Given the description of an element on the screen output the (x, y) to click on. 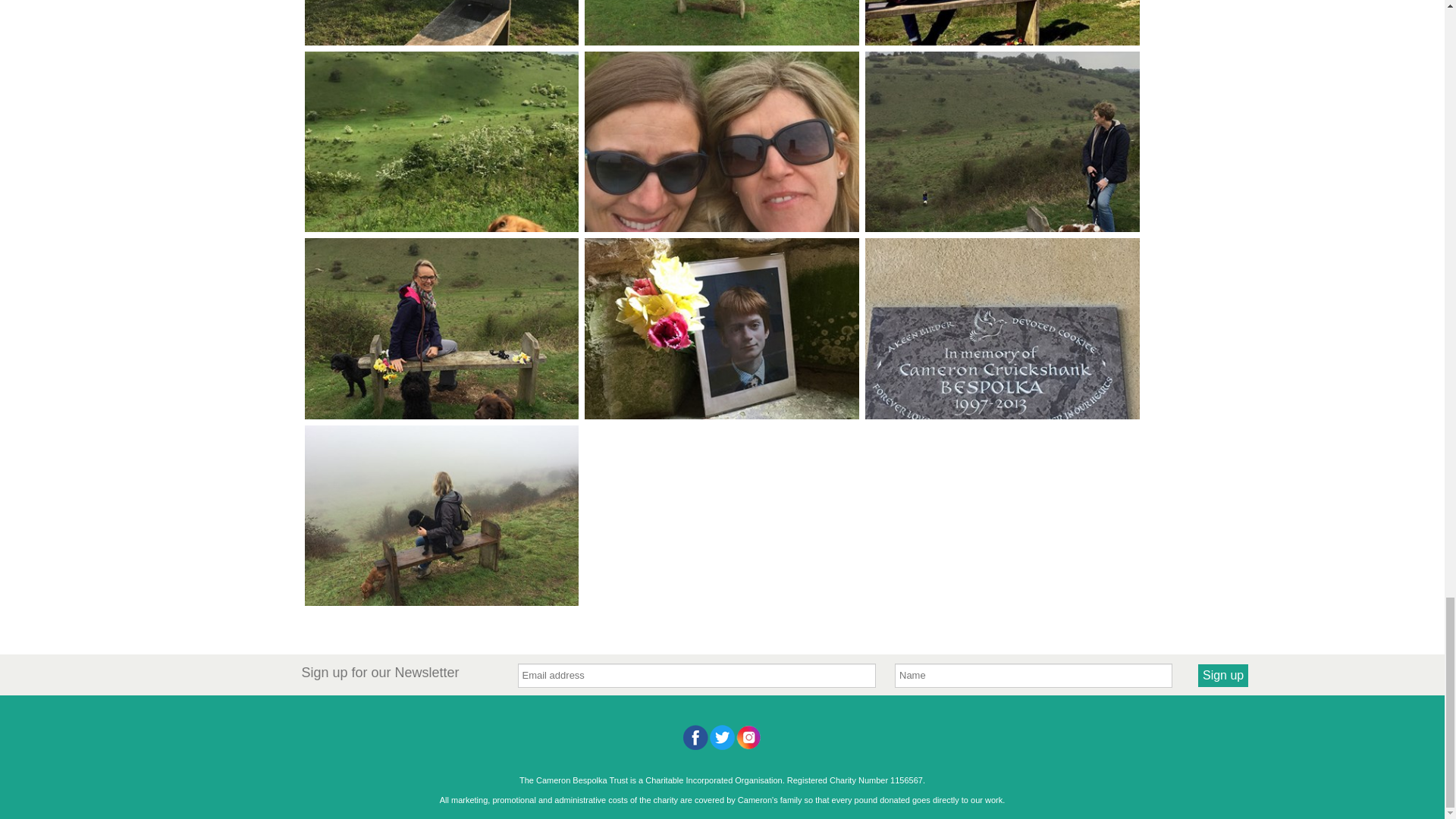
Sign up (1222, 675)
